Given the description of an element on the screen output the (x, y) to click on. 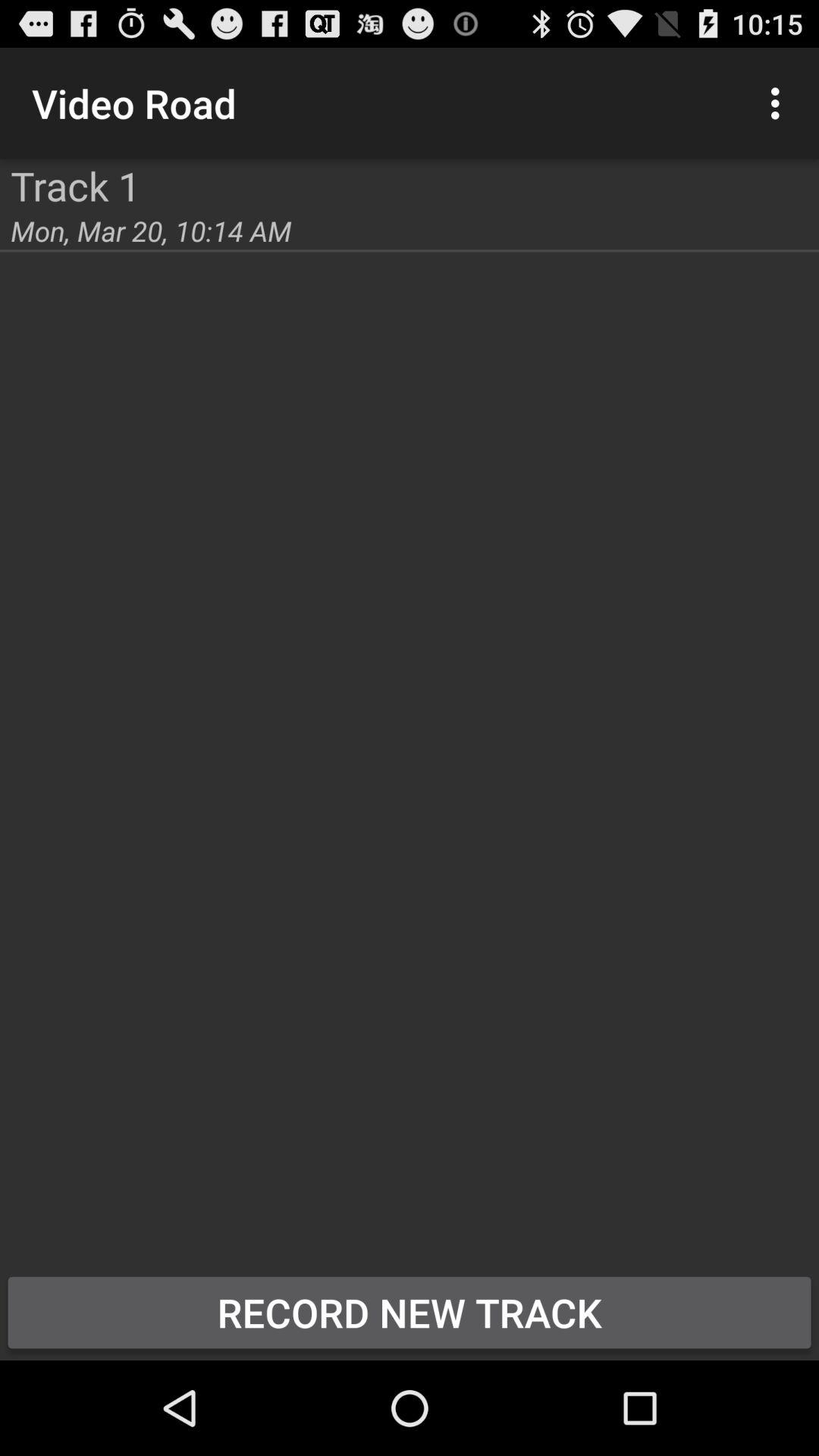
tap icon next to track 1 item (0, 159)
